Given the description of an element on the screen output the (x, y) to click on. 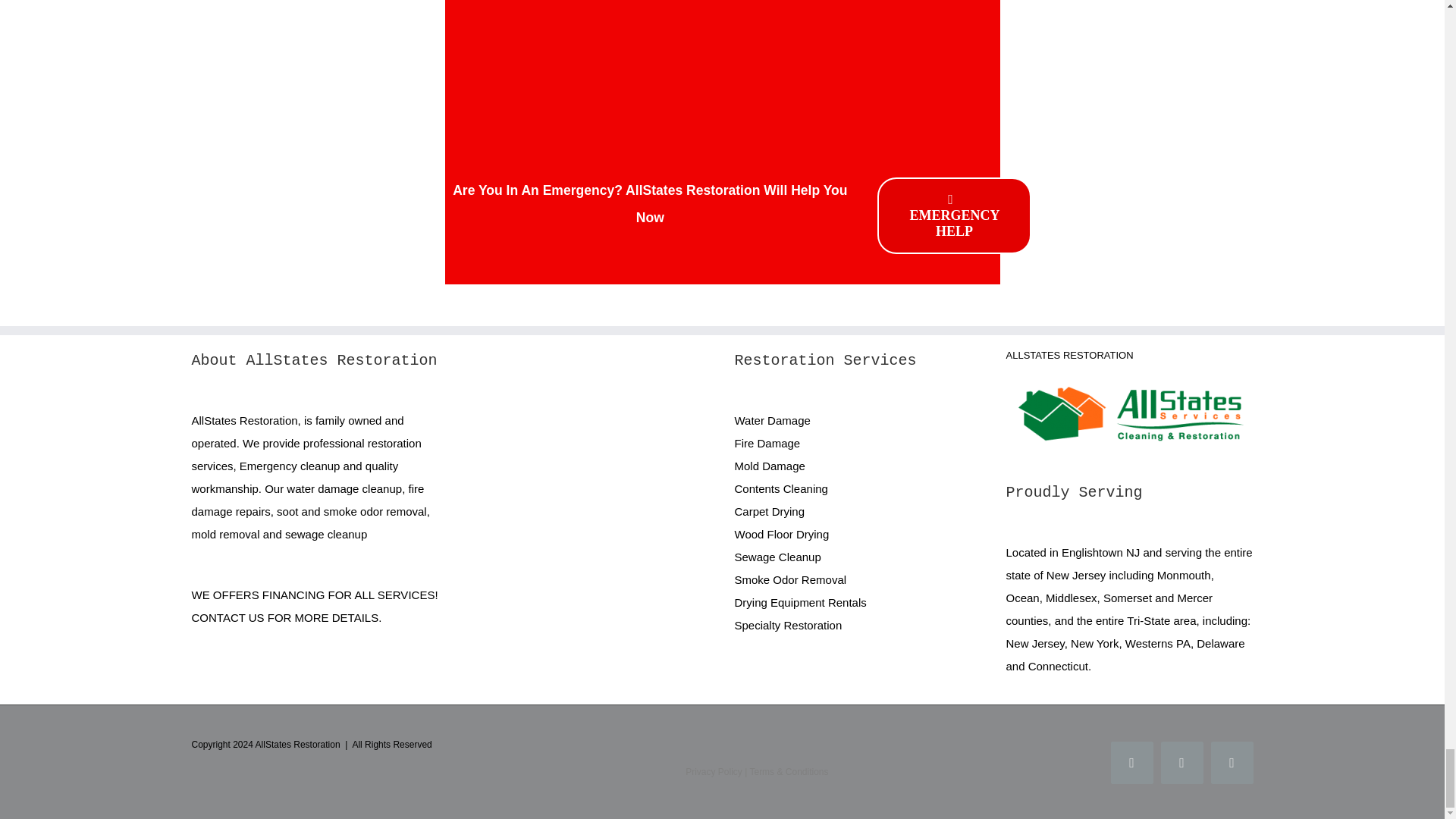
YouTube (1230, 762)
Facebook (1131, 762)
Twitter (1181, 762)
